Given the description of an element on the screen output the (x, y) to click on. 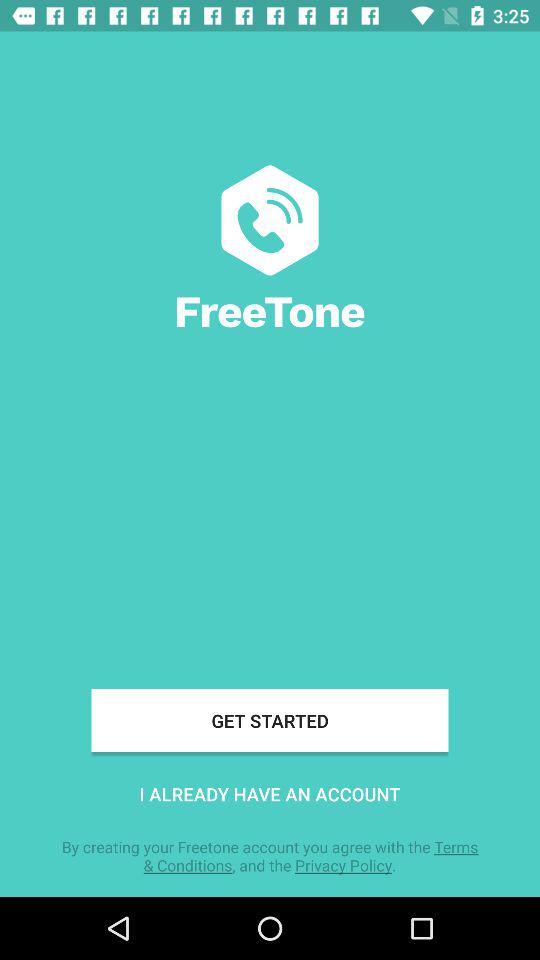
press the get started item (269, 720)
